Given the description of an element on the screen output the (x, y) to click on. 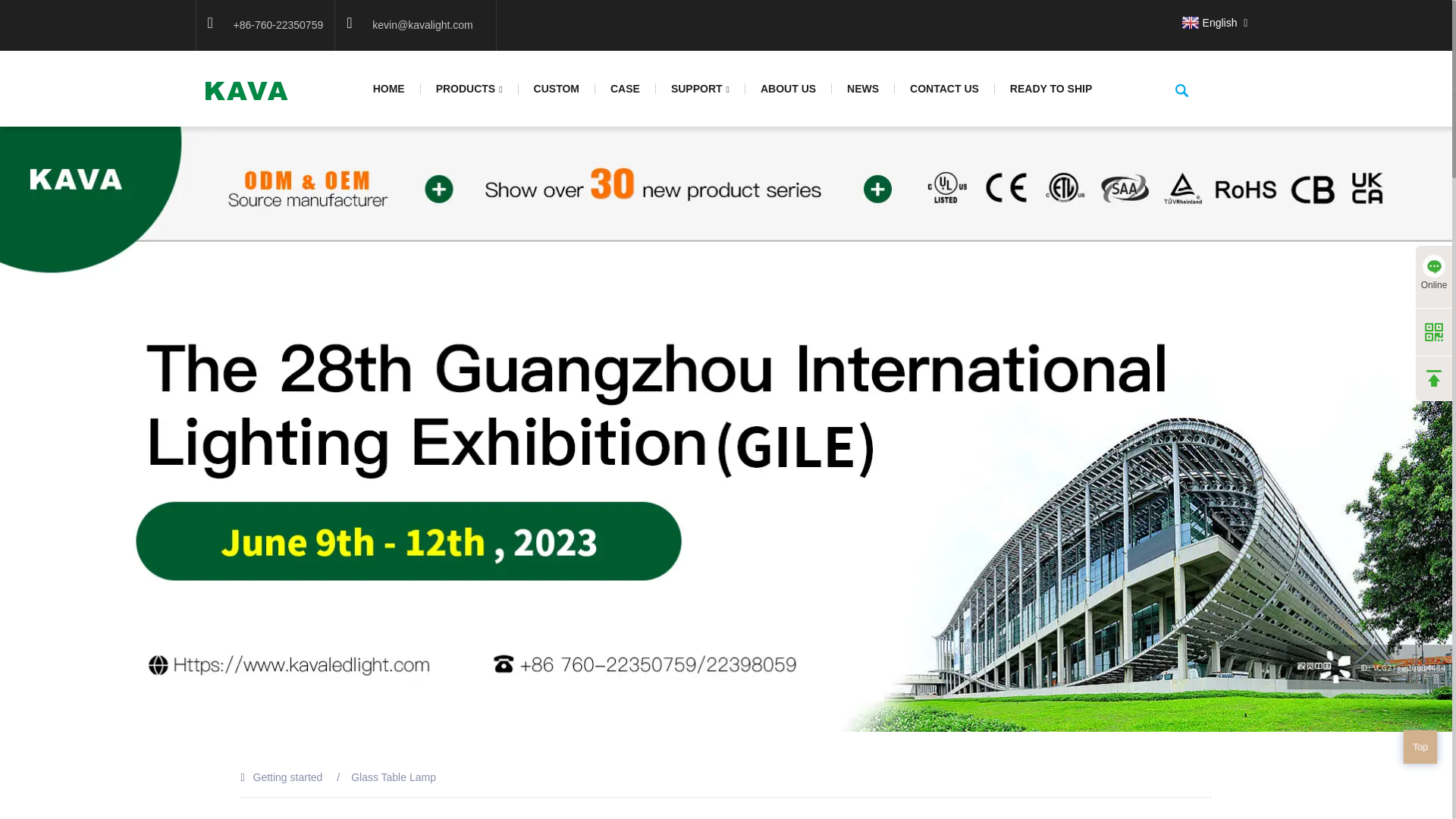
HOME (389, 88)
English (1207, 22)
PRODUCTS (469, 89)
SUPPORT (700, 89)
CUSTOM (556, 88)
CASE (625, 88)
